Given the description of an element on the screen output the (x, y) to click on. 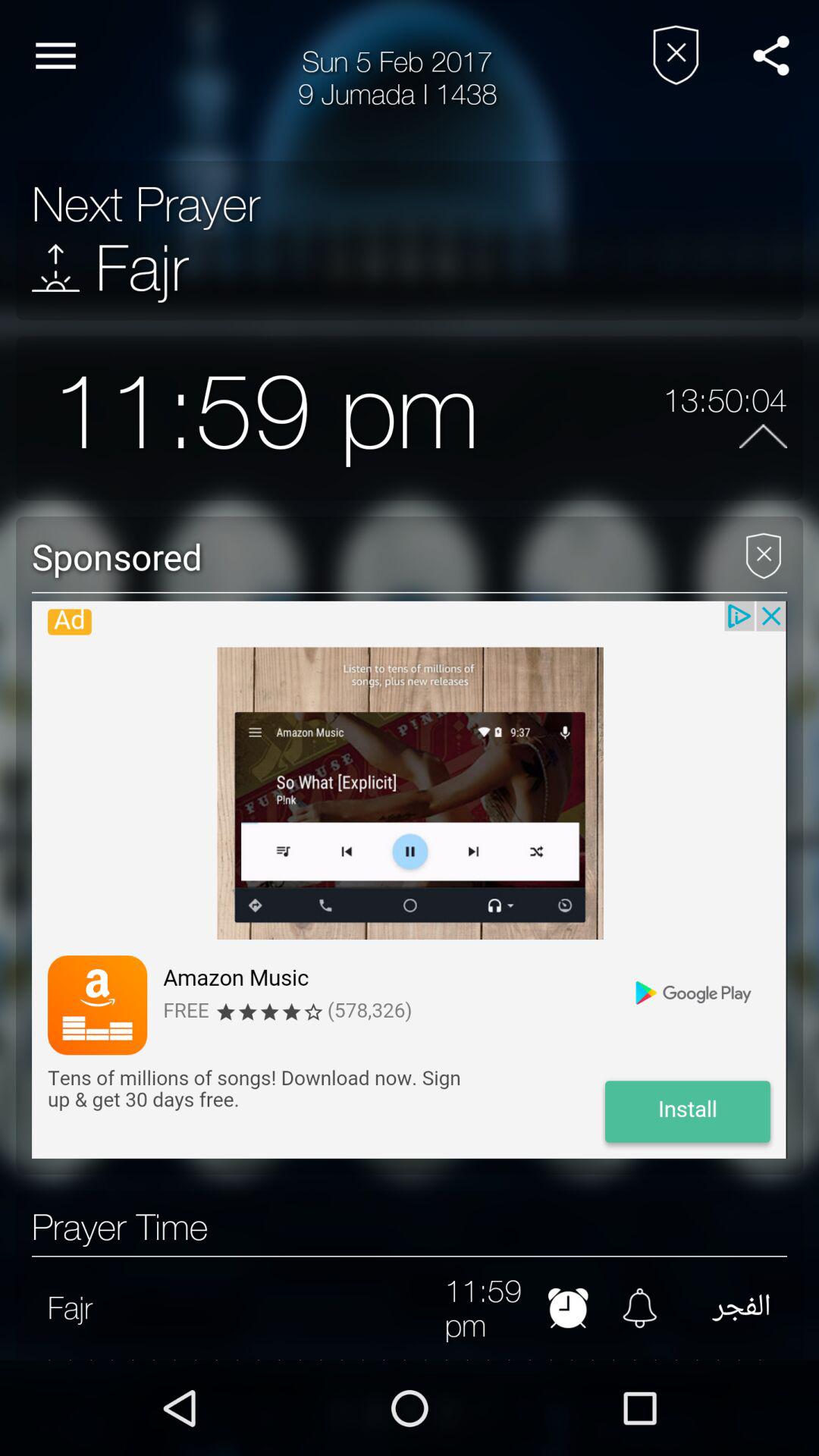
turn on the item above 11:59 pm item (409, 1255)
